Given the description of an element on the screen output the (x, y) to click on. 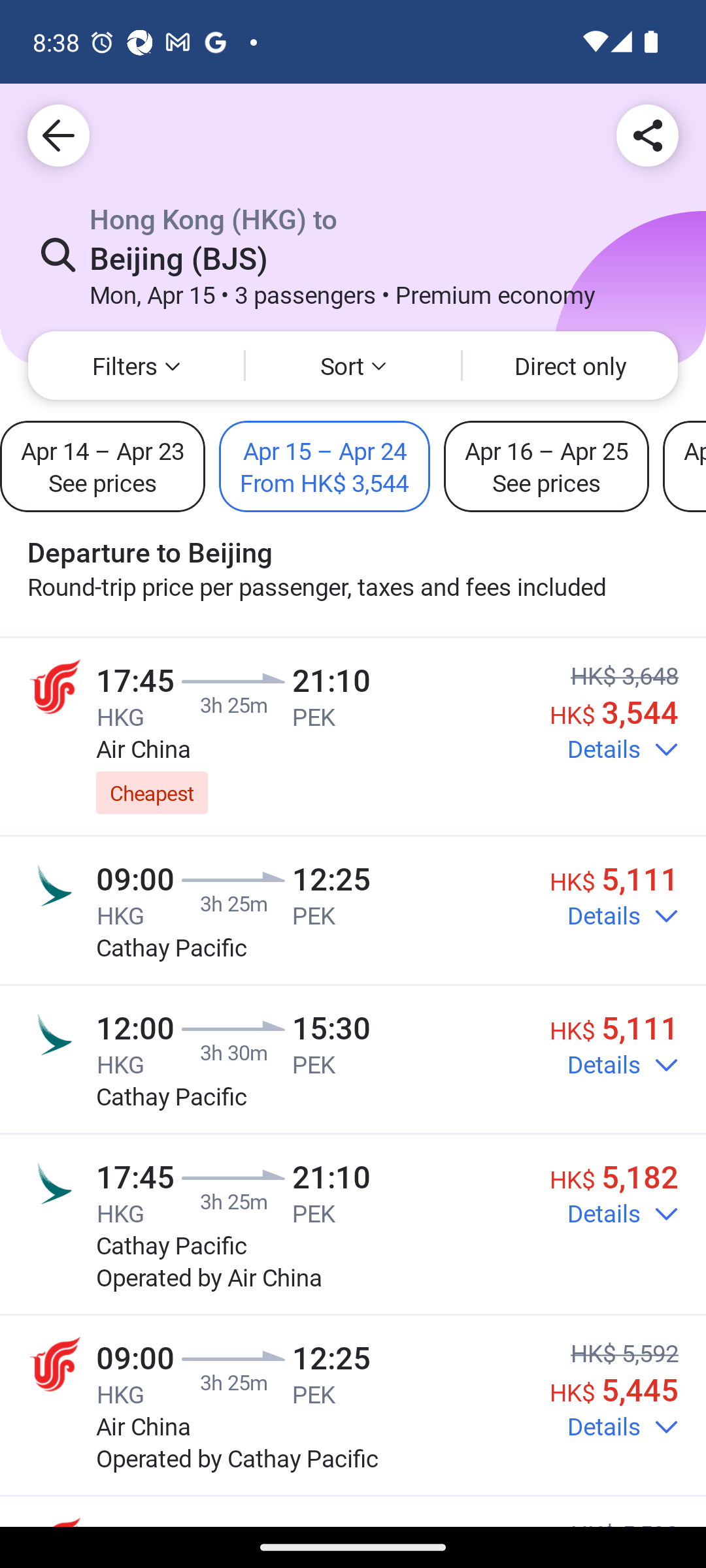
Filters (135, 365)
Sort (353, 365)
Direct only (570, 365)
Apr 14 – Apr 23 See prices (102, 466)
Apr 15 – Apr 24 From HK$ 3,544 (323, 466)
Apr 16 – Apr 25 See prices (546, 466)
